Given the description of an element on the screen output the (x, y) to click on. 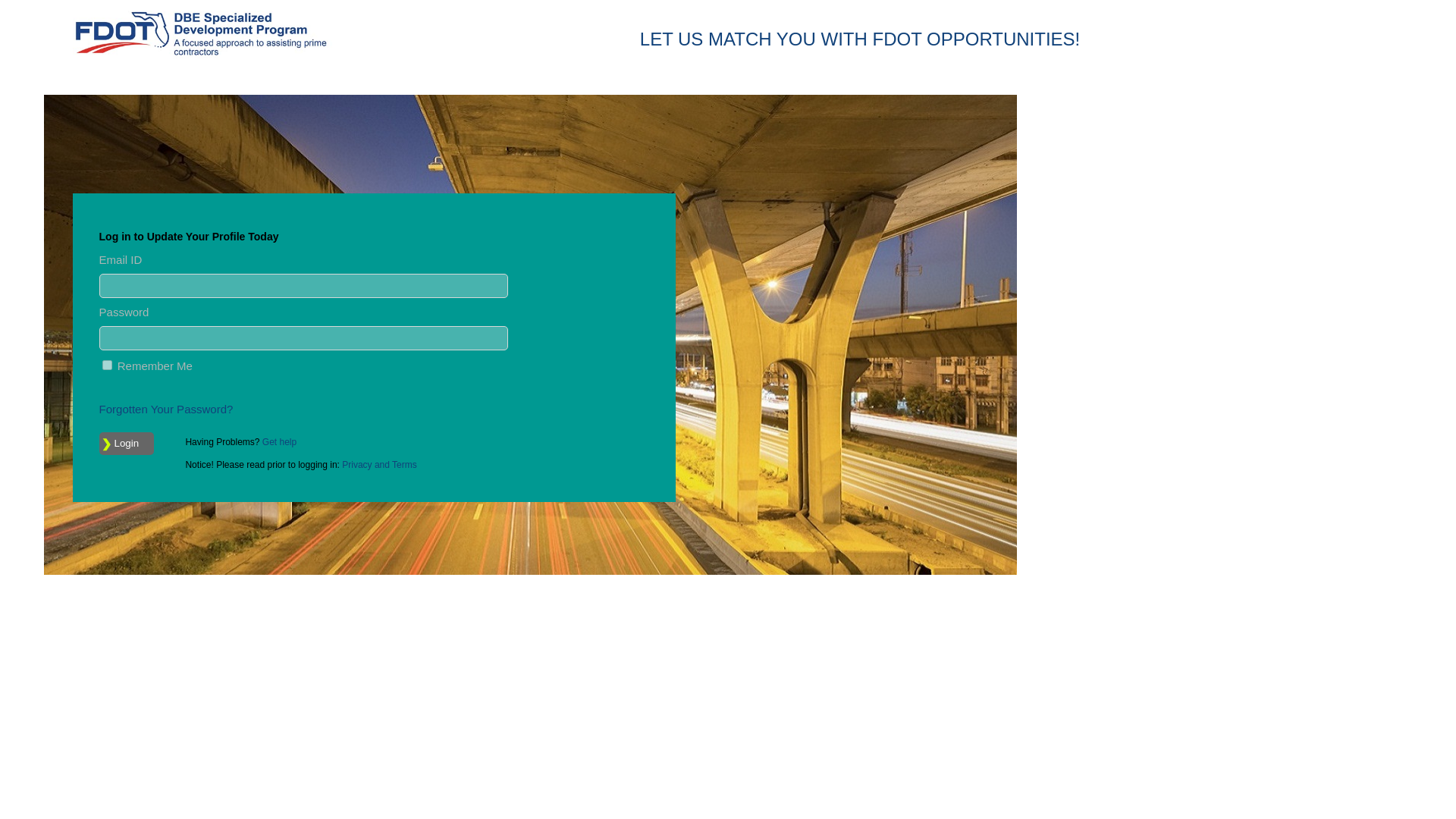
Login (126, 443)
Login (126, 443)
Privacy and Terms (379, 464)
Forgotten Your Password? (165, 408)
Get help (279, 441)
